Given the description of an element on the screen output the (x, y) to click on. 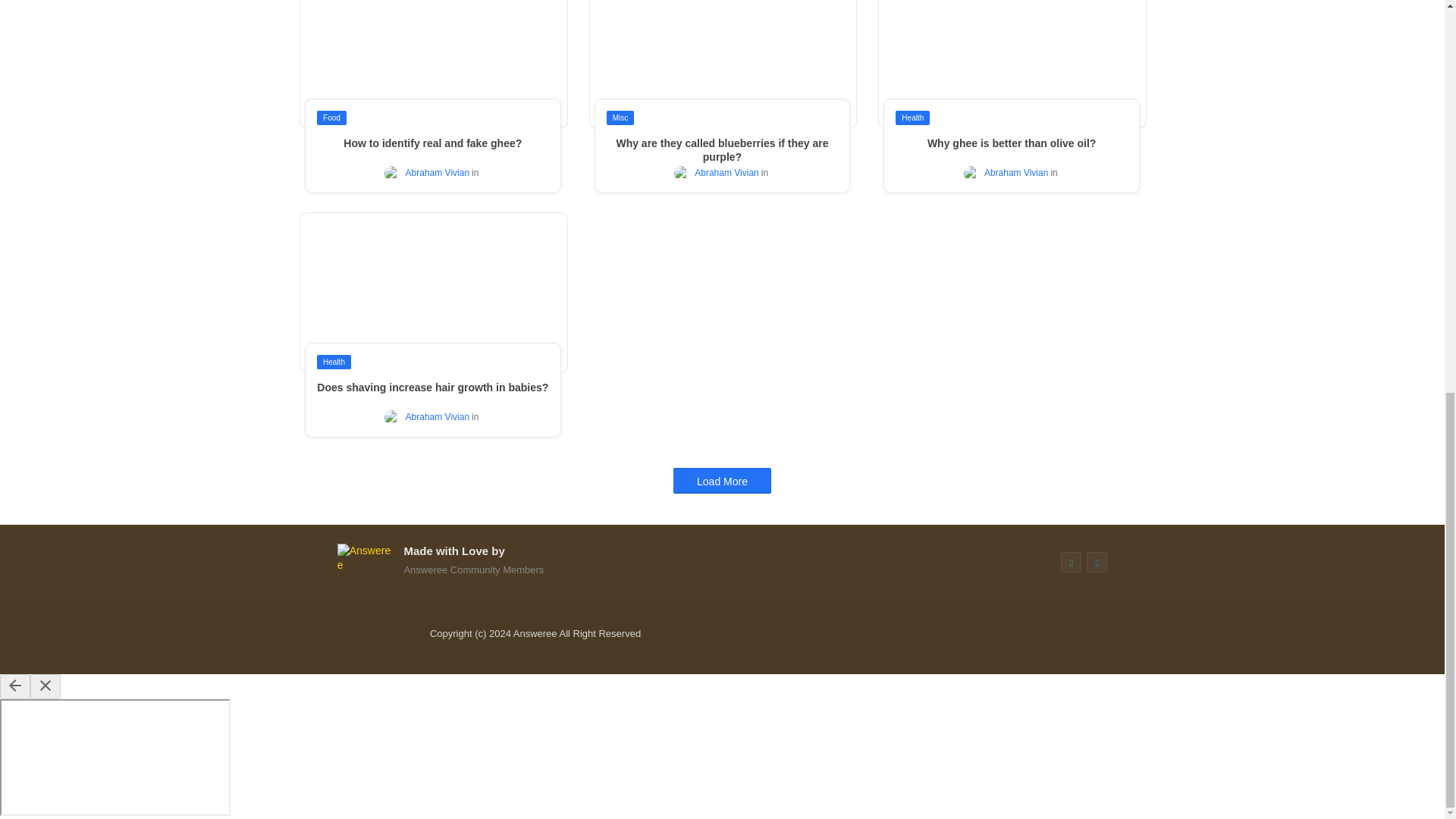
Does shaving increase hair growth in babies? (432, 386)
Why ghee is better than olive oil? (1010, 142)
How to identify real and fake ghee? (432, 142)
Does shaving increase hair growth in babies? (432, 386)
How to identify real and fake ghee? (432, 142)
Why are they called blueberries if they are purple? (722, 149)
Why ghee is better than olive oil? (1010, 142)
Load More (721, 479)
Why are they called blueberries if they are purple? (722, 149)
